Given the description of an element on the screen output the (x, y) to click on. 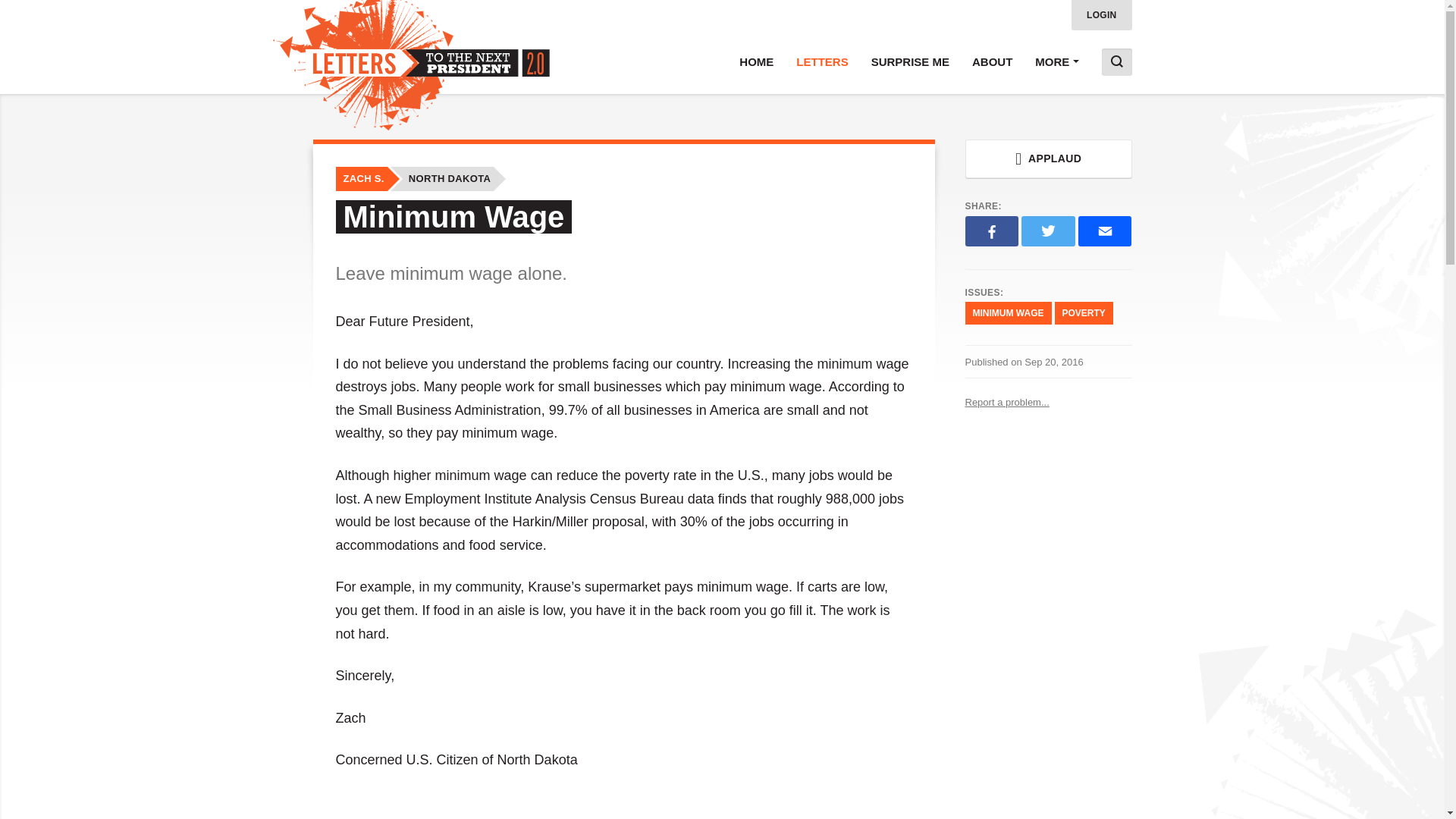
POVERTY (1083, 313)
ABOUT (991, 62)
LOGIN (1101, 15)
LETTERS (821, 62)
MINIMUM WAGE (1007, 313)
SURPRISE ME (910, 62)
HOME (756, 62)
Report a problem... (1047, 402)
